Given the description of an element on the screen output the (x, y) to click on. 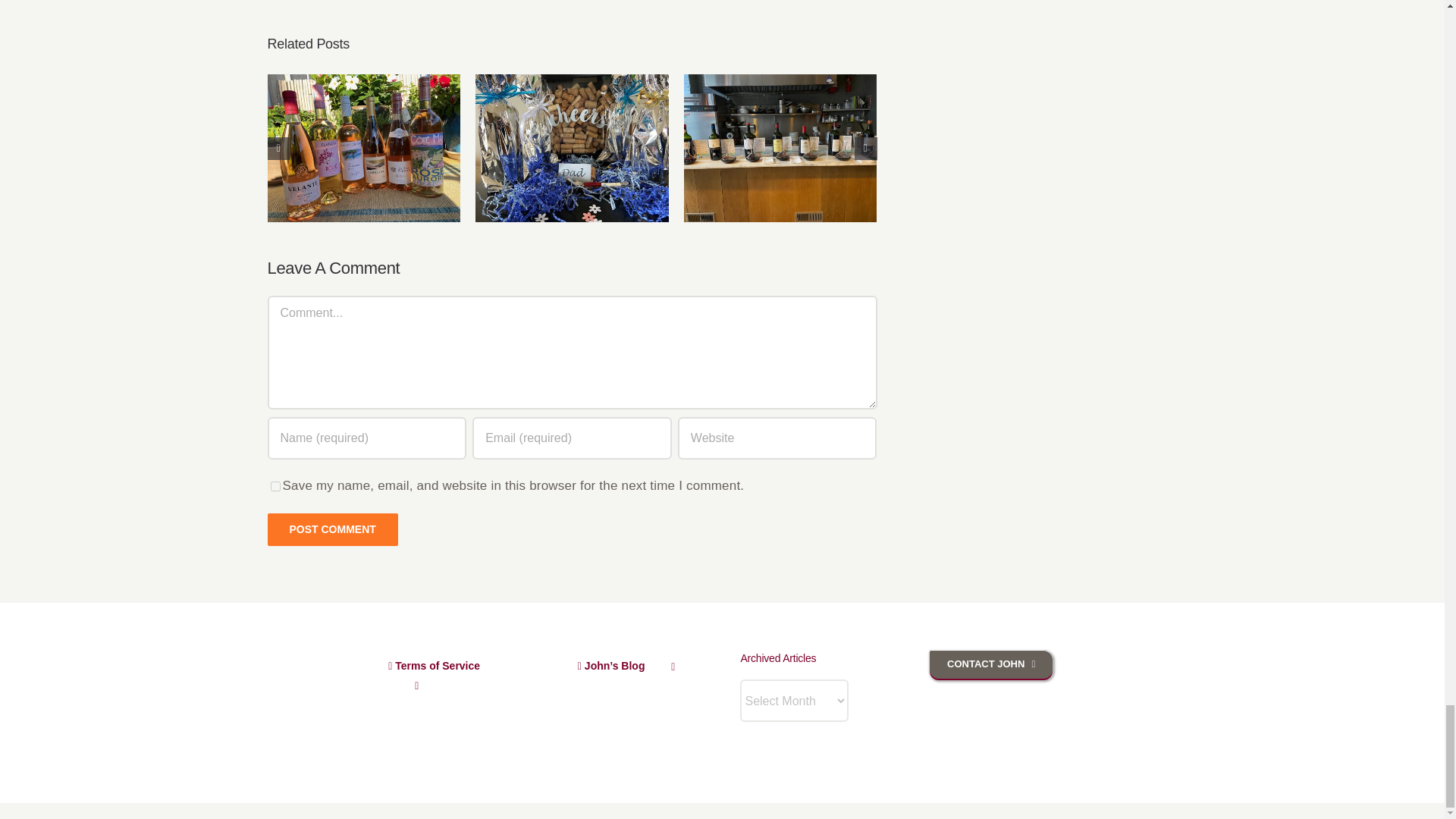
Post Comment (331, 529)
yes (274, 486)
Contact us (991, 664)
